Given the description of an element on the screen output the (x, y) to click on. 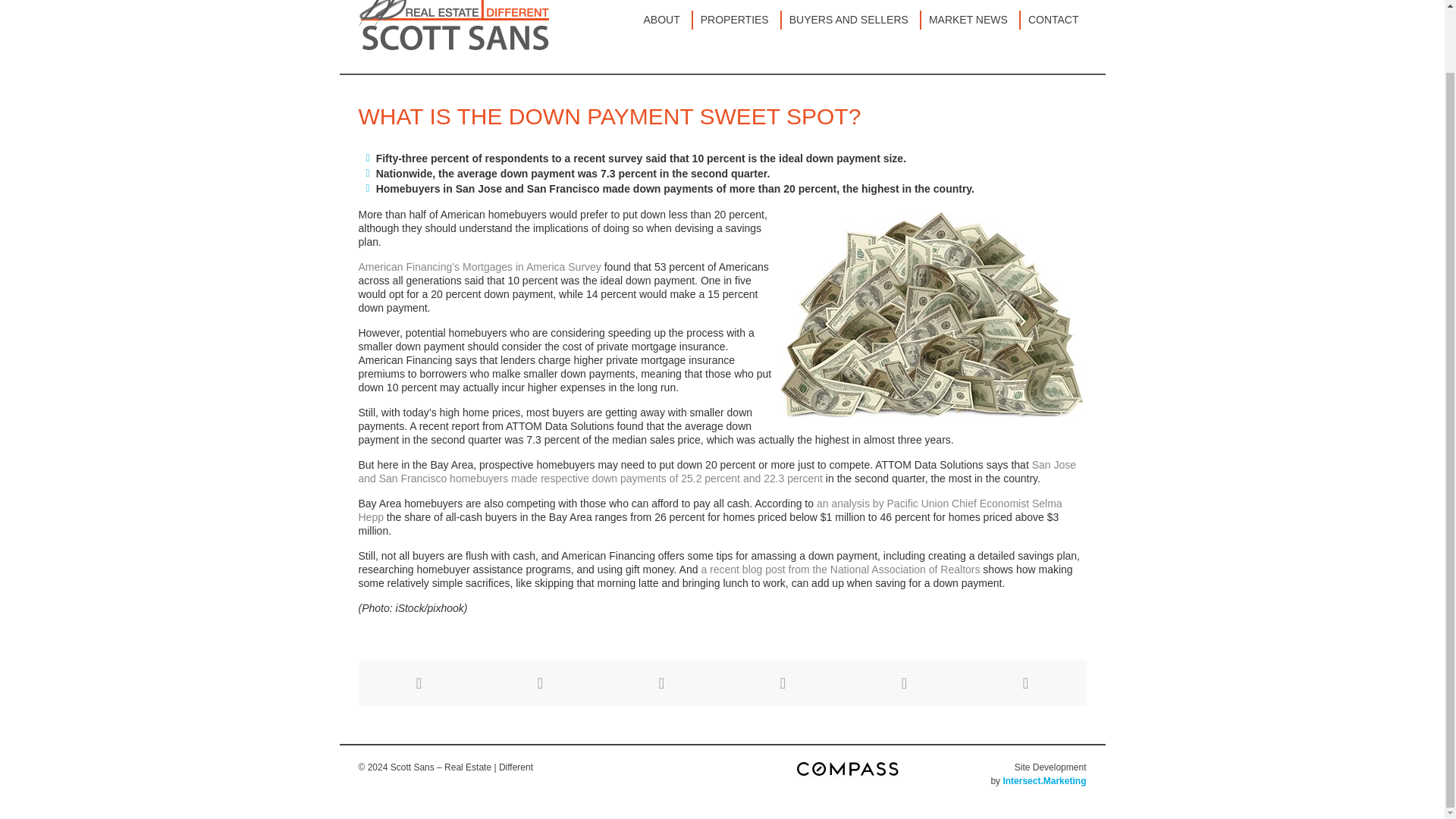
PROPERTIES (737, 19)
an analysis by Pacific Union Chief Economist Selma Hepp (709, 510)
a recent blog post from the National Association of Realtors (839, 569)
Intersect.Marketing (1044, 780)
BUYERS AND SELLERS (851, 19)
MARKET NEWS (970, 19)
ABOUT (663, 19)
CONTACT (1053, 19)
